Given the description of an element on the screen output the (x, y) to click on. 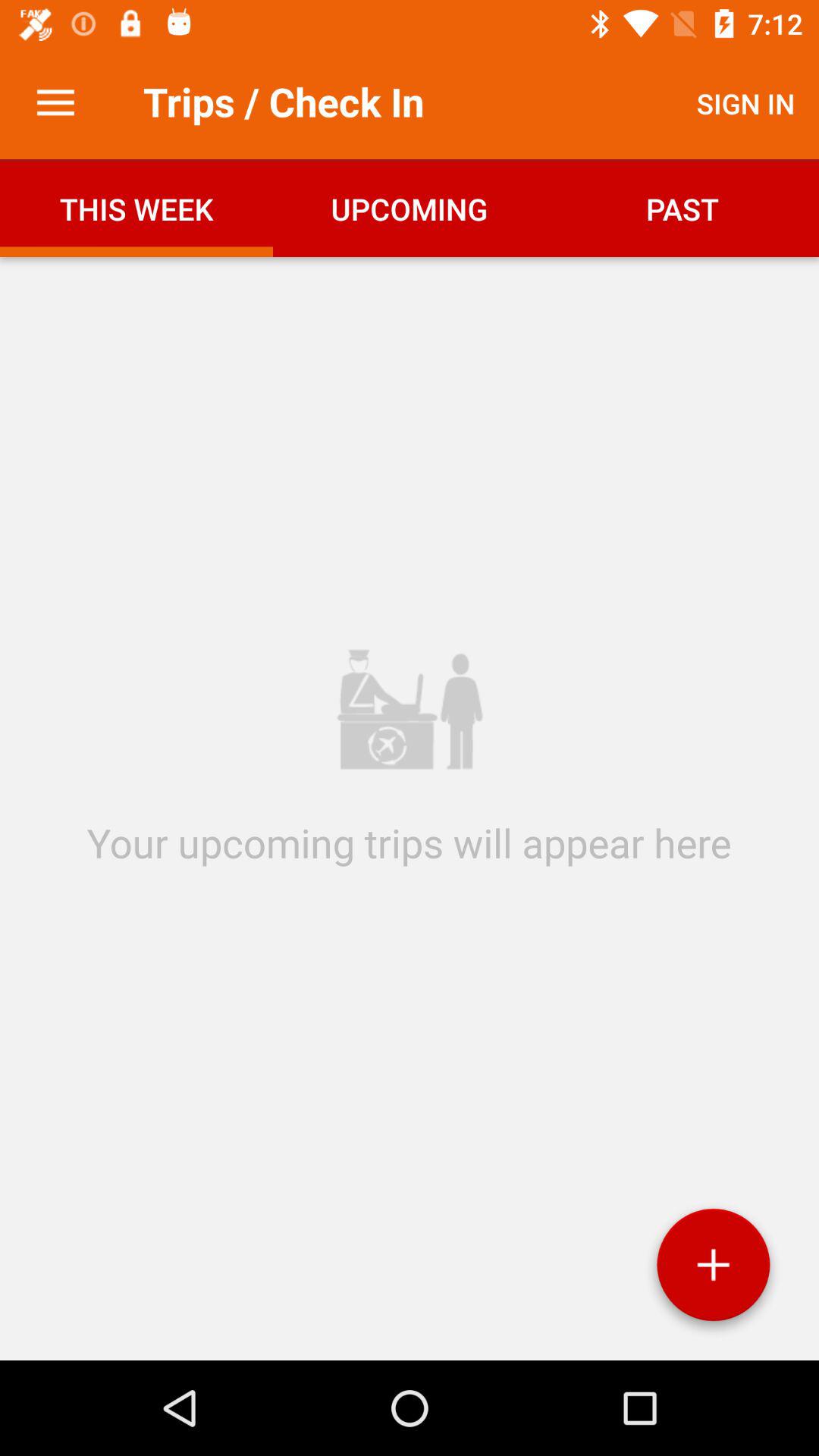
turn off item to the left of trips / check in item (55, 103)
